Given the description of an element on the screen output the (x, y) to click on. 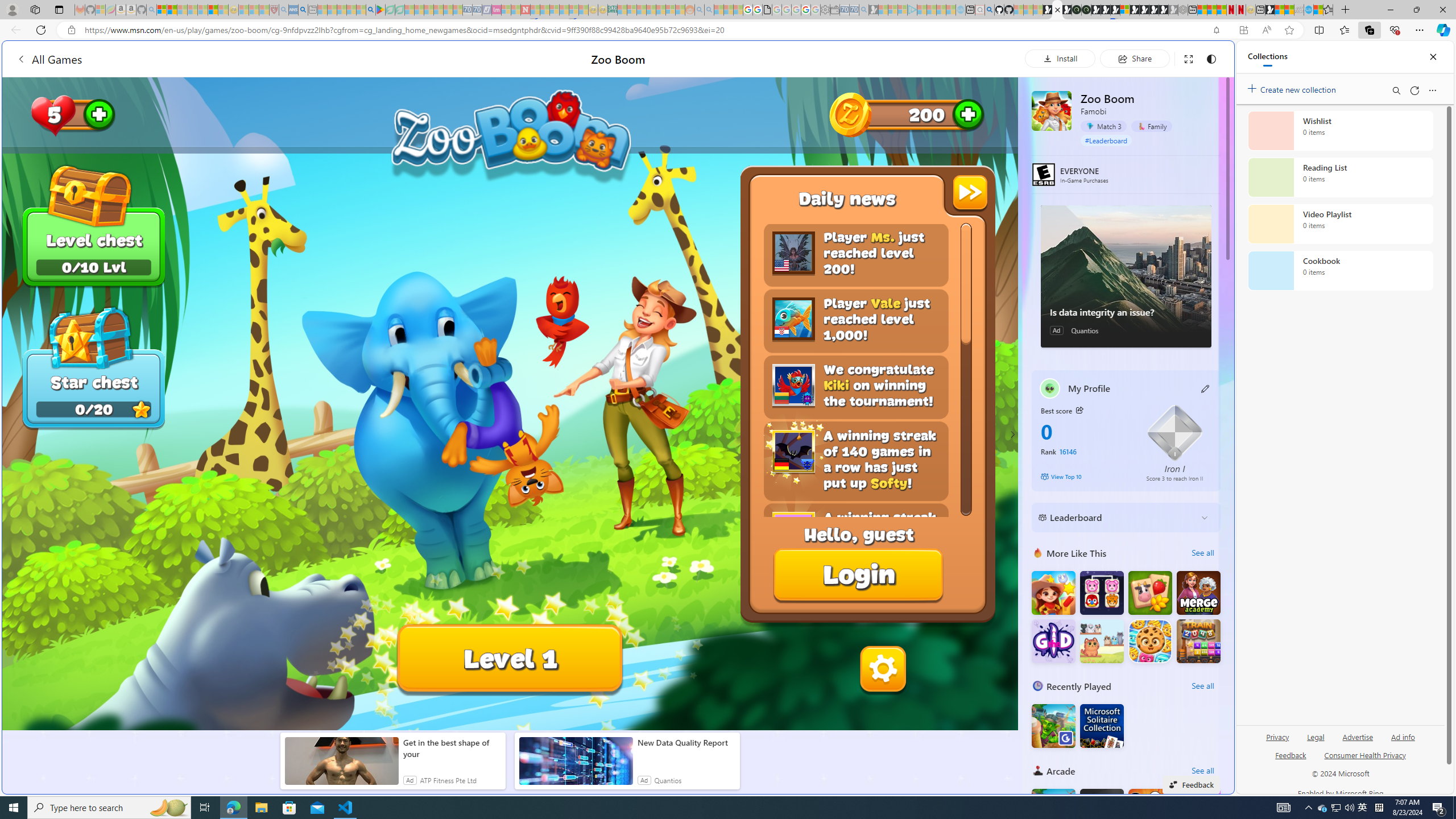
Bluey: Let's Play! - Apps on Google Play (380, 9)
Zoo Boom (1051, 110)
Services - Maintenance | Sky Blue Bikes - Sky Blue Bikes (1307, 9)
Microsoft Start Gaming - Sleeping (873, 9)
Future Focus Report 2024 (1085, 9)
Sign in to your account (1124, 9)
Class: button (1079, 410)
